Given the description of an element on the screen output the (x, y) to click on. 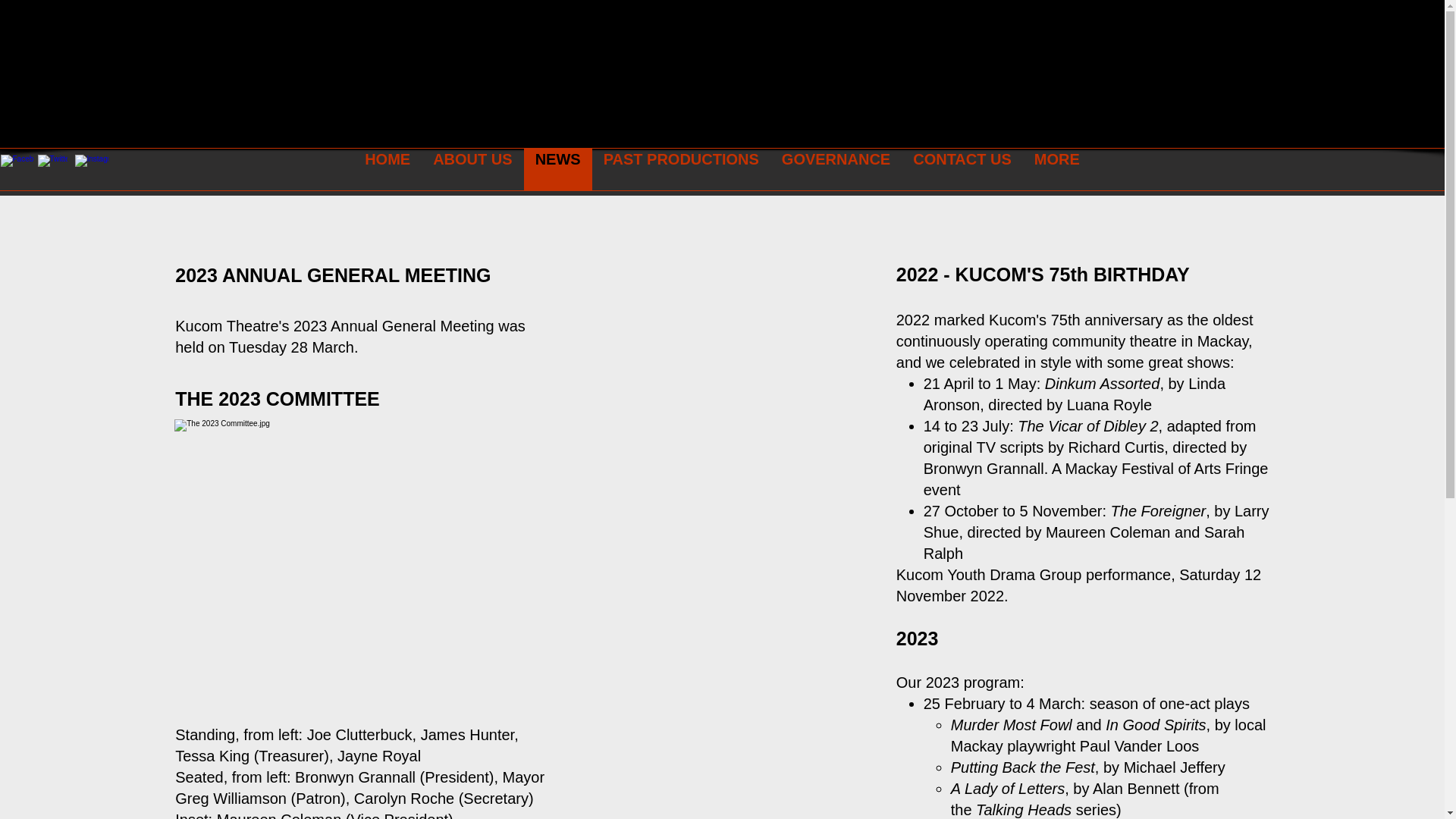
GOVERNANCE Element type: text (835, 169)
NEWS Element type: text (558, 169)
CONTACT US Element type: text (961, 169)
HOME Element type: text (387, 169)
ABOUT US Element type: text (472, 169)
